Given the description of an element on the screen output the (x, y) to click on. 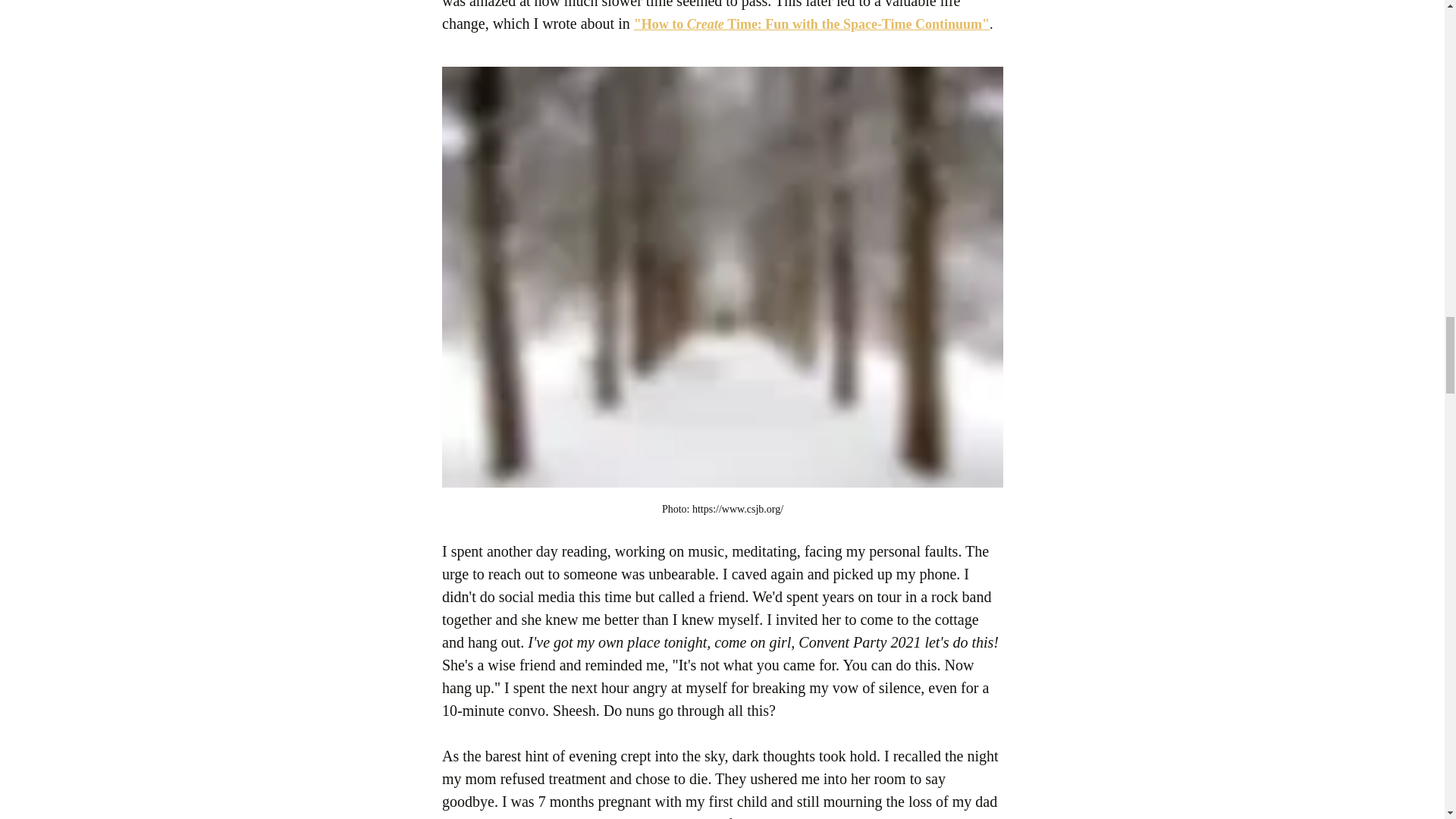
Create  (705, 23)
"How to  (659, 23)
Time: Fun with the Space-Time Continuum" (858, 23)
